Given the description of an element on the screen output the (x, y) to click on. 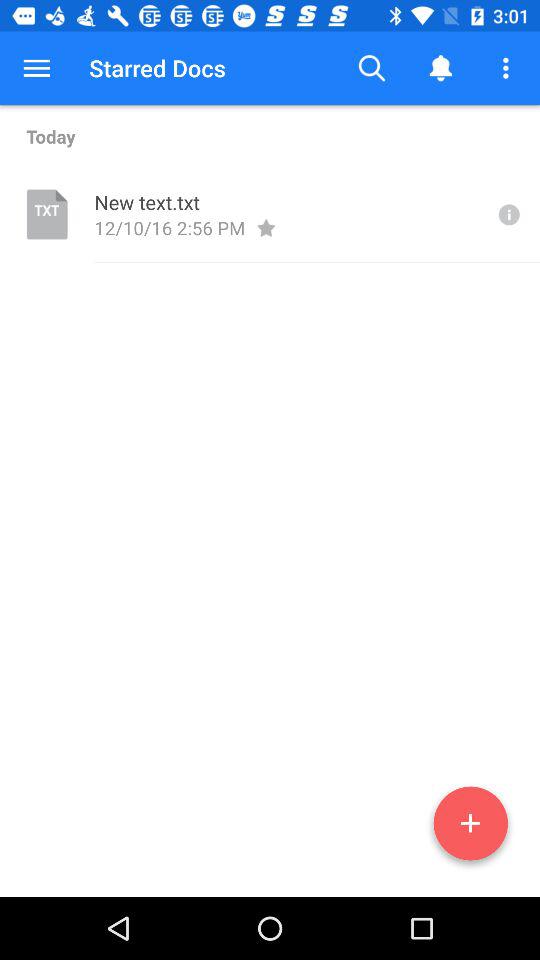
add option (470, 827)
